Given the description of an element on the screen output the (x, y) to click on. 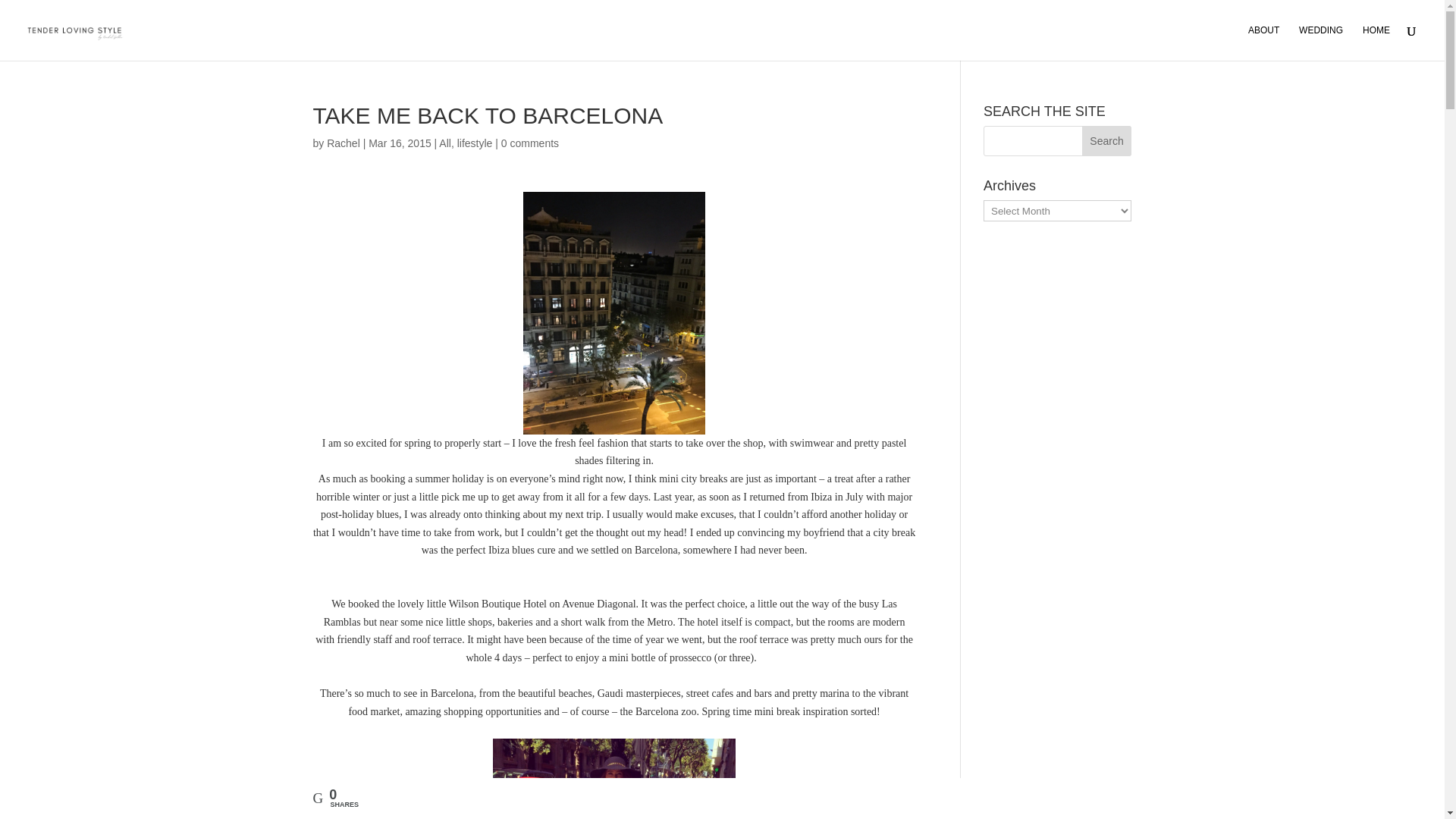
WEDDING (1320, 42)
0 comments (529, 143)
Posts by Rachel (342, 143)
lifestyle (475, 143)
Rachel (342, 143)
Search (1106, 141)
All (445, 143)
